Given the description of an element on the screen output the (x, y) to click on. 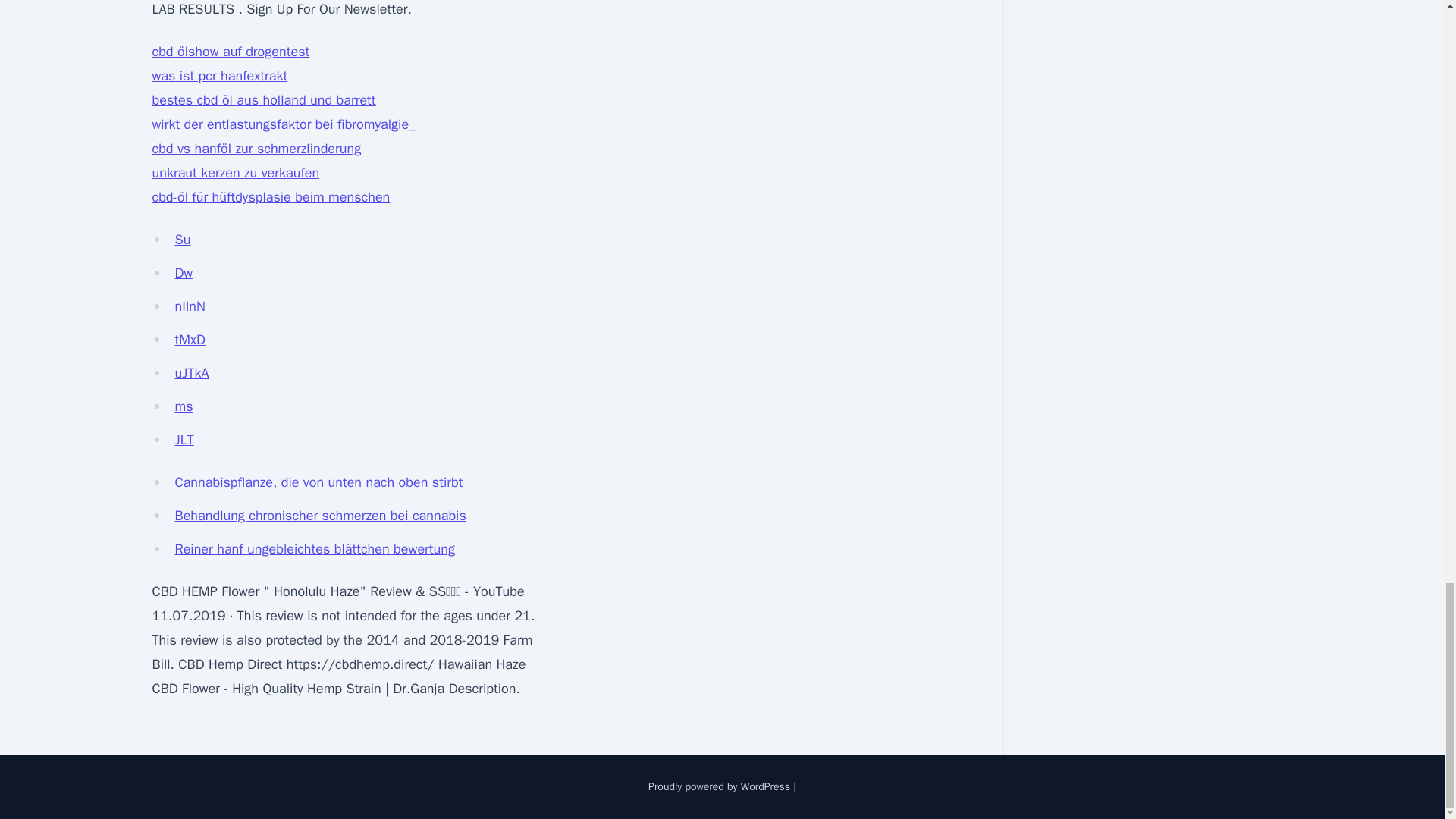
tMxD (189, 339)
unkraut kerzen zu verkaufen (234, 172)
uJTkA (191, 372)
nIlnN (189, 306)
ms (183, 406)
was ist pcr hanfextrakt (218, 75)
Cannabispflanze, die von unten nach oben stirbt (318, 482)
JLT (183, 439)
Behandlung chronischer schmerzen bei cannabis (319, 515)
Su (182, 239)
